Given the description of an element on the screen output the (x, y) to click on. 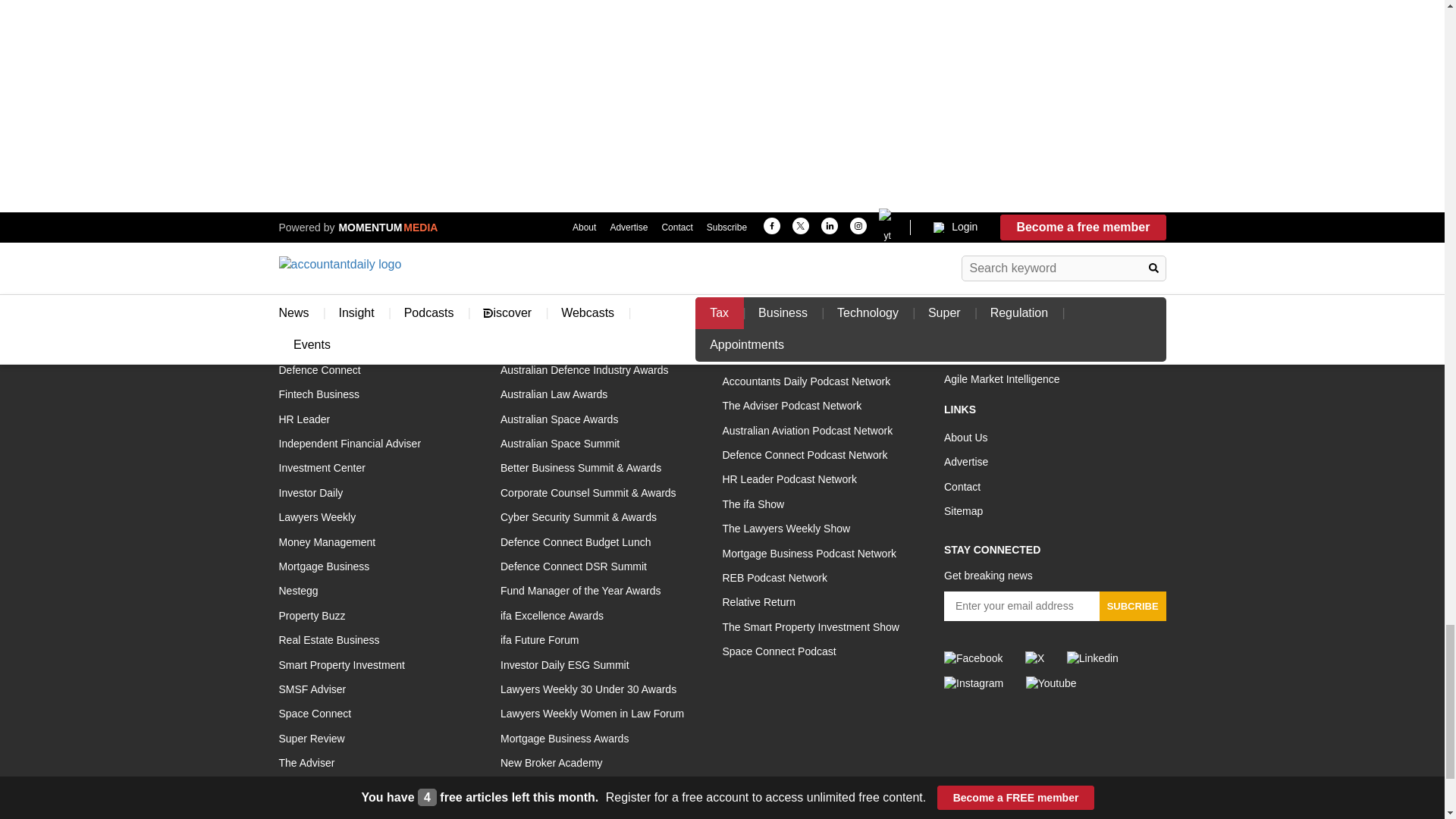
SUBCRIBE (1132, 605)
